Given the description of an element on the screen output the (x, y) to click on. 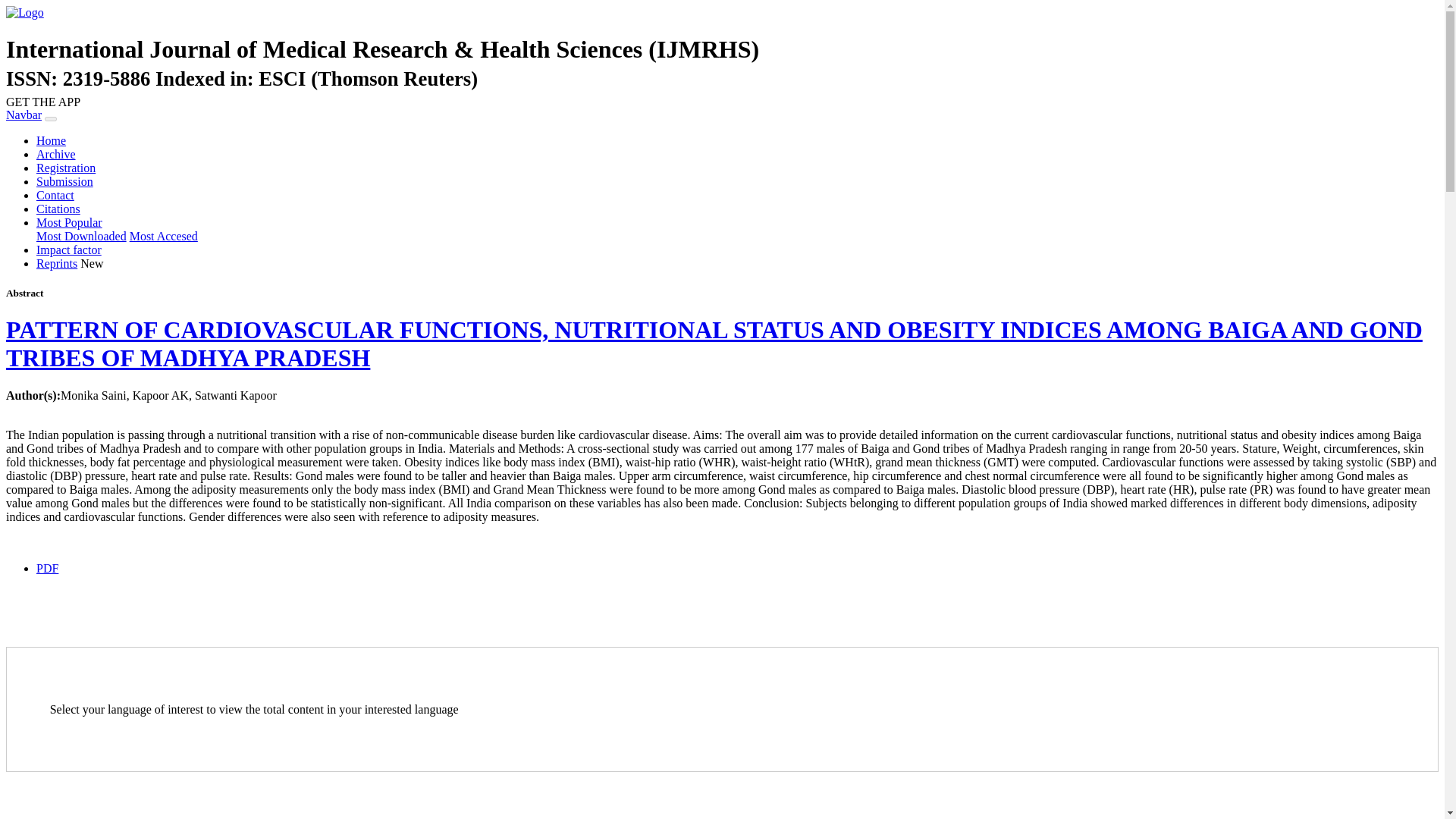
Click here (56, 263)
Navbar (23, 114)
Click here (81, 236)
Click here (58, 208)
Click here (55, 195)
Registration (66, 167)
Click here (50, 140)
Citations (58, 208)
Click here (64, 181)
Click here (163, 236)
Home (50, 140)
Click here (55, 154)
Click here (66, 167)
